Given the description of an element on the screen output the (x, y) to click on. 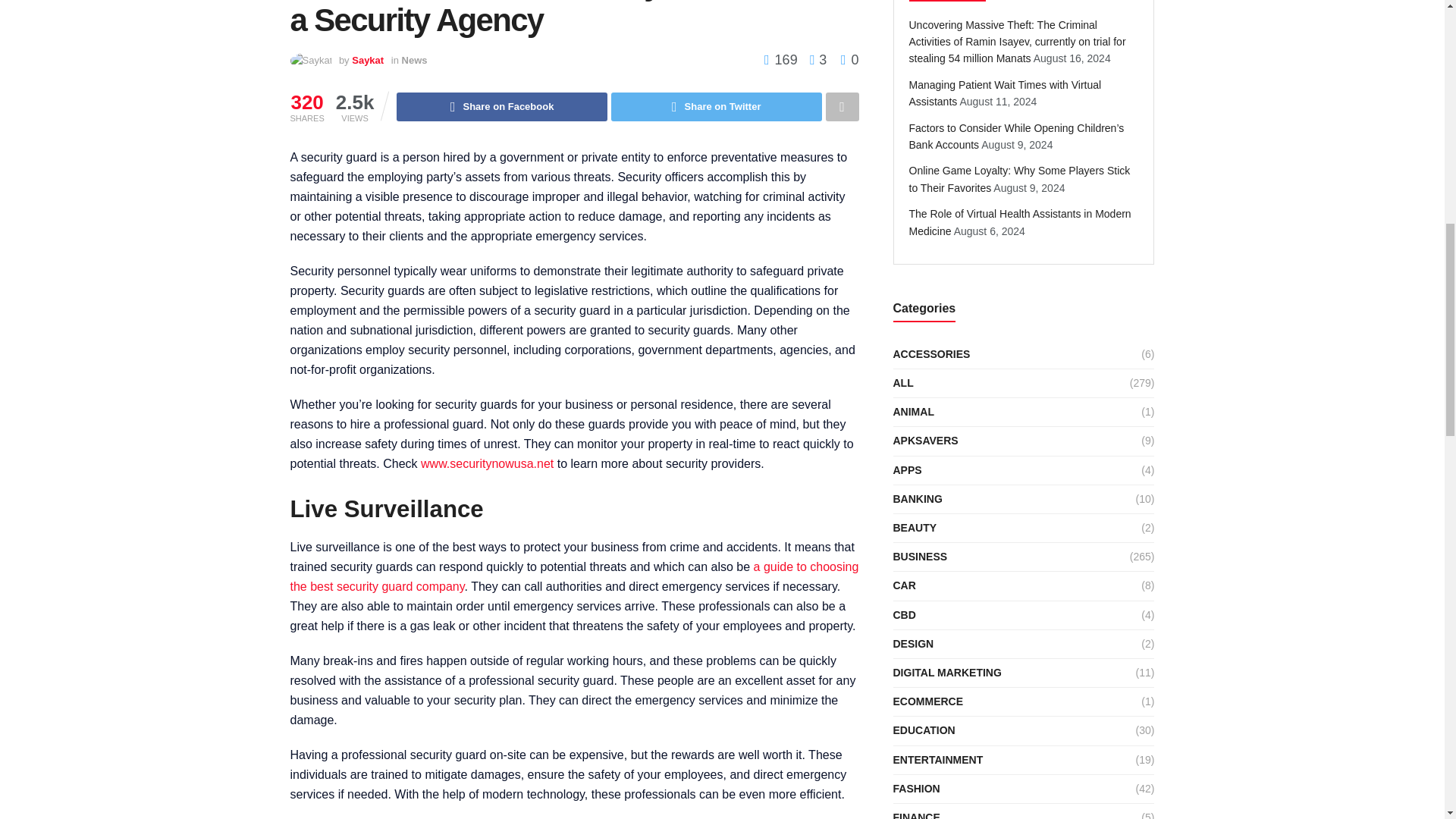
3 (814, 59)
Saykat (368, 60)
a guide to choosing the best security guard company (574, 576)
0 (850, 59)
169 (783, 59)
www.securitynowusa.net (486, 463)
Share on Twitter (716, 106)
News (414, 60)
Share on Facebook (501, 106)
